Given the description of an element on the screen output the (x, y) to click on. 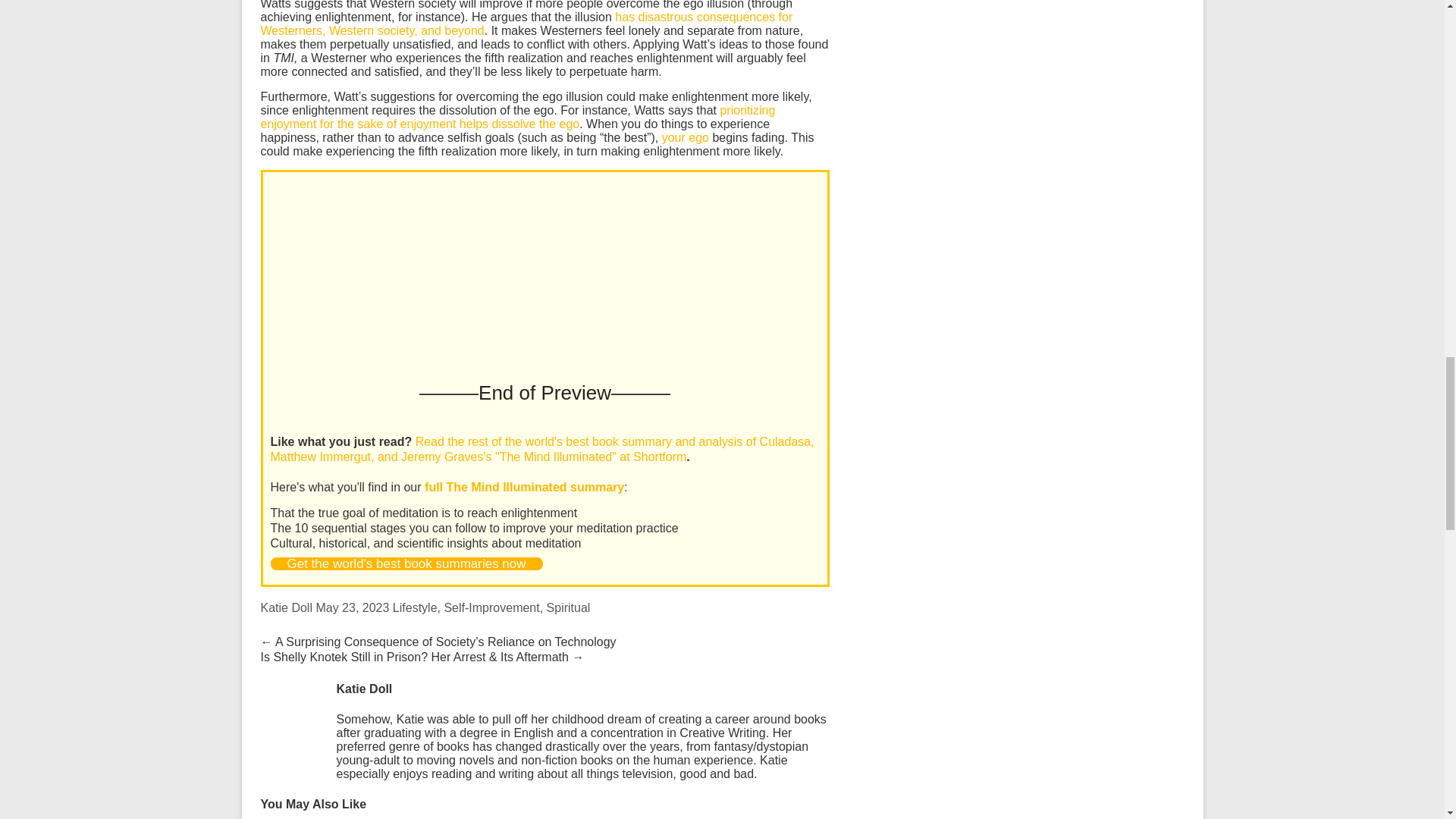
full The Mind Illuminated summary (524, 486)
11:32 am (351, 607)
Get the world's best book summaries now (405, 563)
your ego (685, 137)
Spiritual (569, 607)
Self-Improvement (491, 607)
May 23, 2023 (351, 607)
Katie Doll (286, 607)
Lifestyle (415, 607)
